Given the description of an element on the screen output the (x, y) to click on. 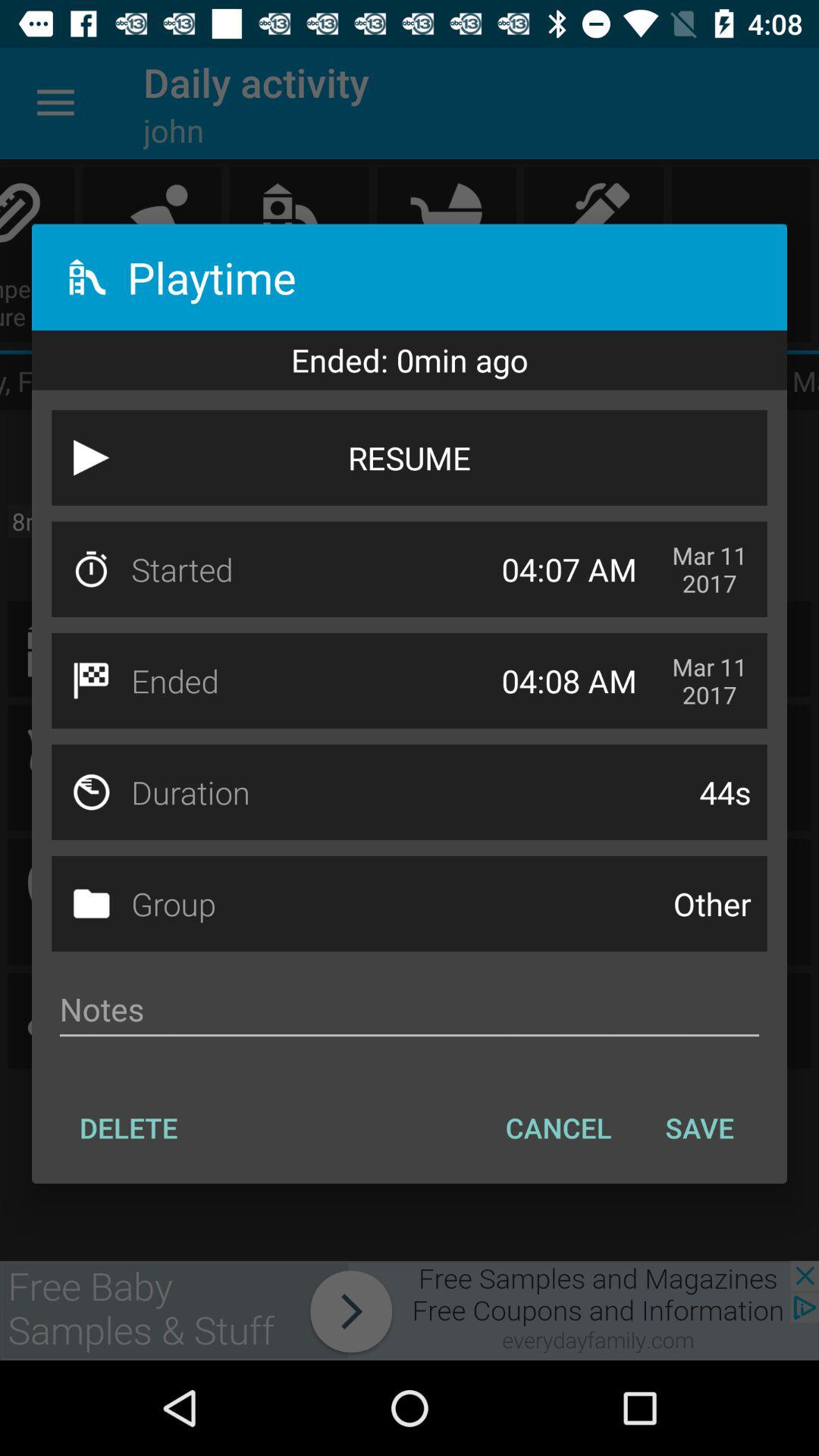
open the delete icon (128, 1127)
